Given the description of an element on the screen output the (x, y) to click on. 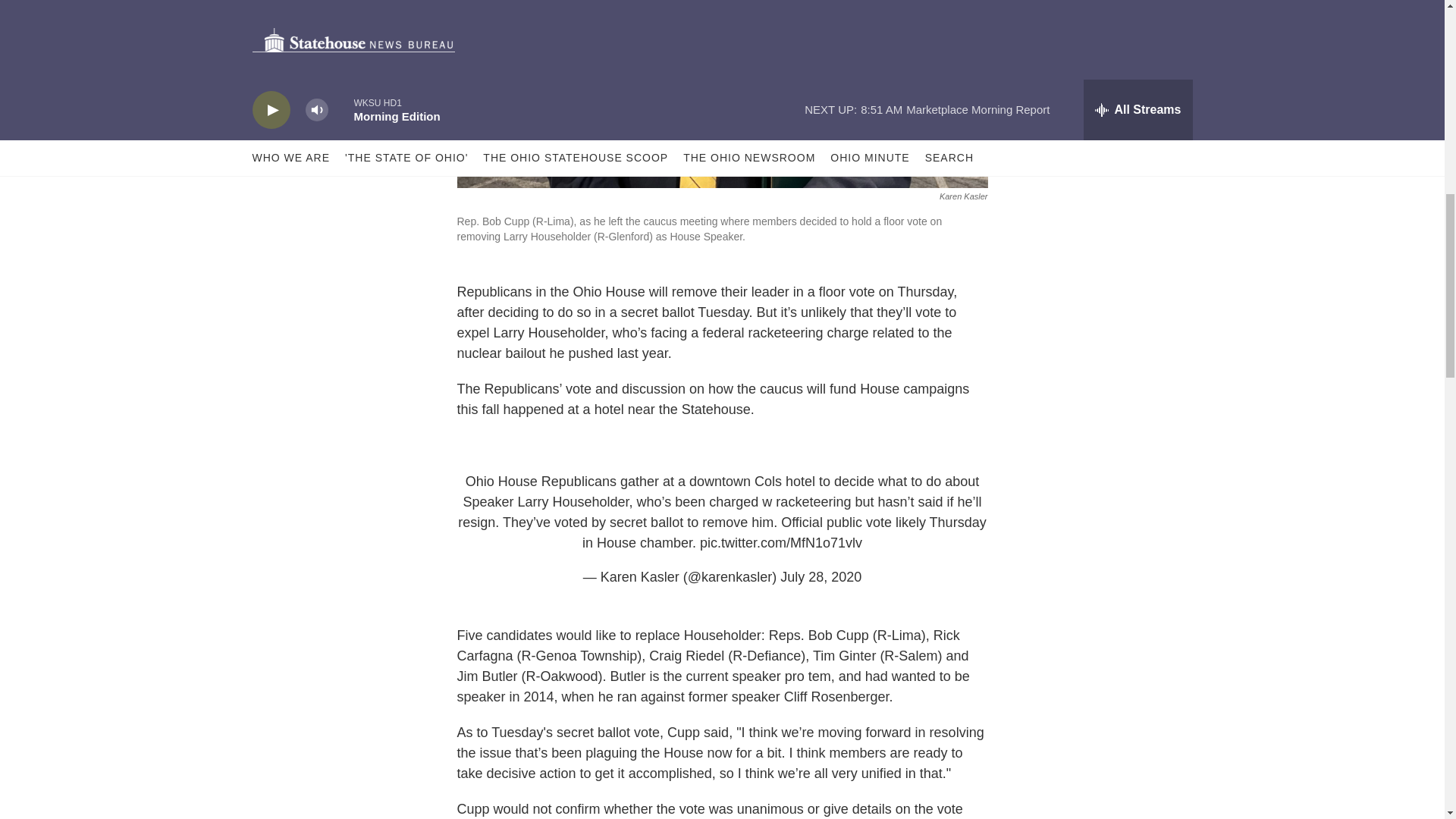
July 28, 2020 (820, 576)
